Given the description of an element on the screen output the (x, y) to click on. 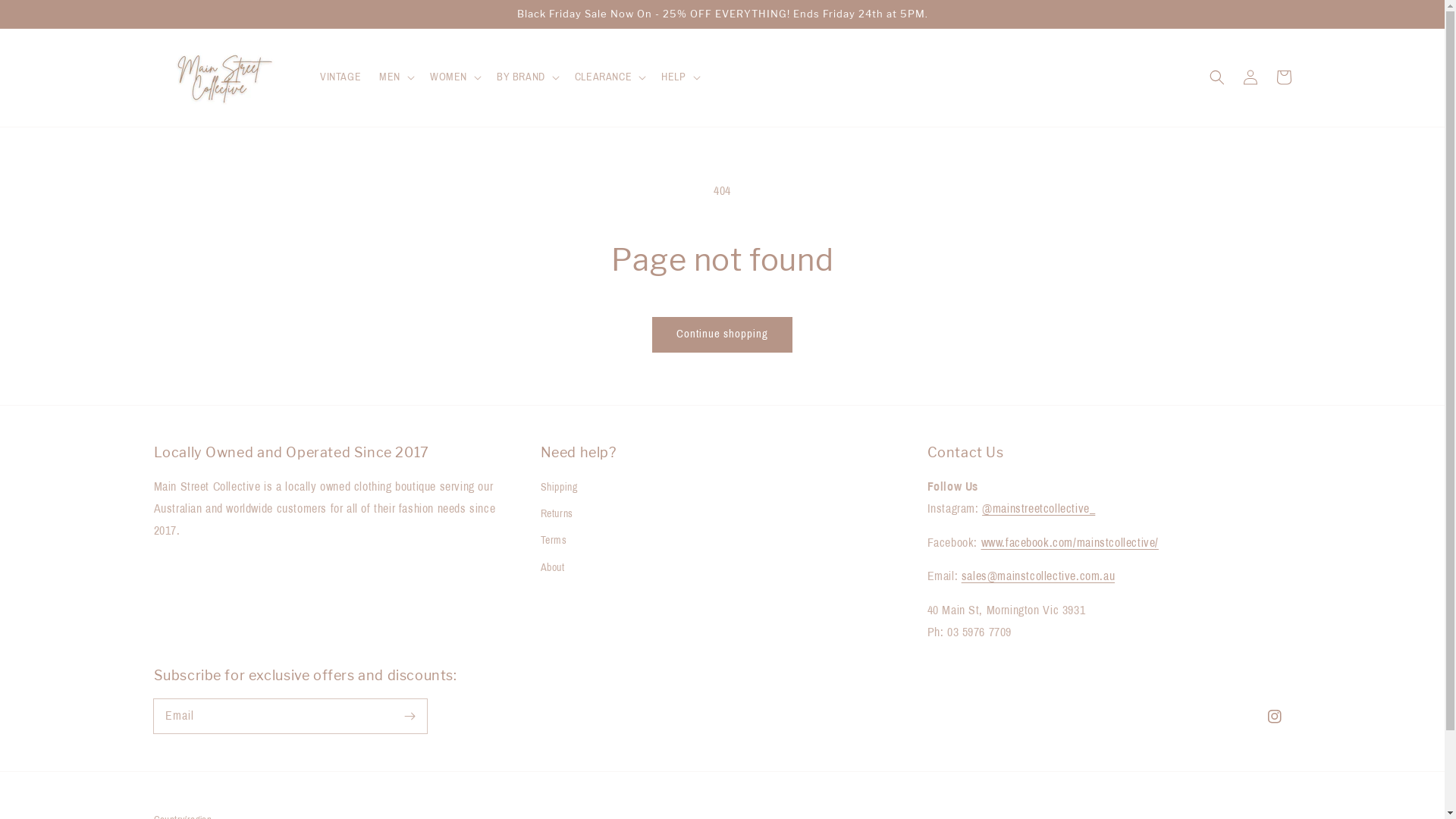
@mainstreetcollective_ Element type: text (1038, 508)
Instagram Element type: text (1273, 716)
sales@mainstcollective.com.au Element type: text (1037, 575)
www.facebook.com/mainstcollective/ Element type: text (1069, 542)
Terms Element type: text (552, 540)
Cart Element type: text (1282, 77)
Log in Element type: text (1249, 77)
Returns Element type: text (555, 513)
Continue shopping Element type: text (721, 334)
About Element type: text (551, 567)
VINTAGE Element type: text (340, 77)
Shipping Element type: text (558, 488)
